Given the description of an element on the screen output the (x, y) to click on. 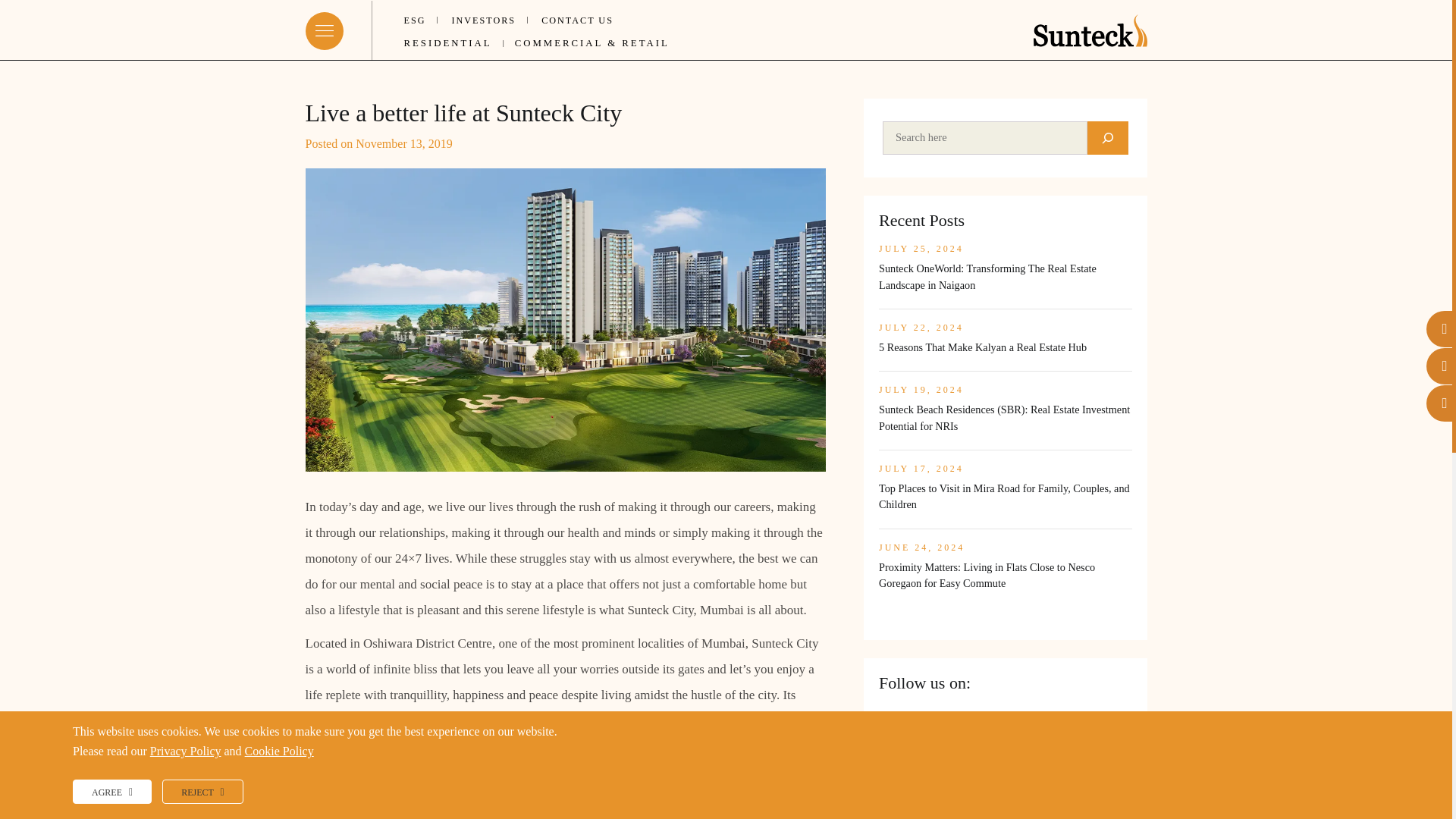
Logo (1089, 30)
INVESTORS (483, 14)
RESIDENTIAL (447, 41)
CONTACT US (576, 14)
